Given the description of an element on the screen output the (x, y) to click on. 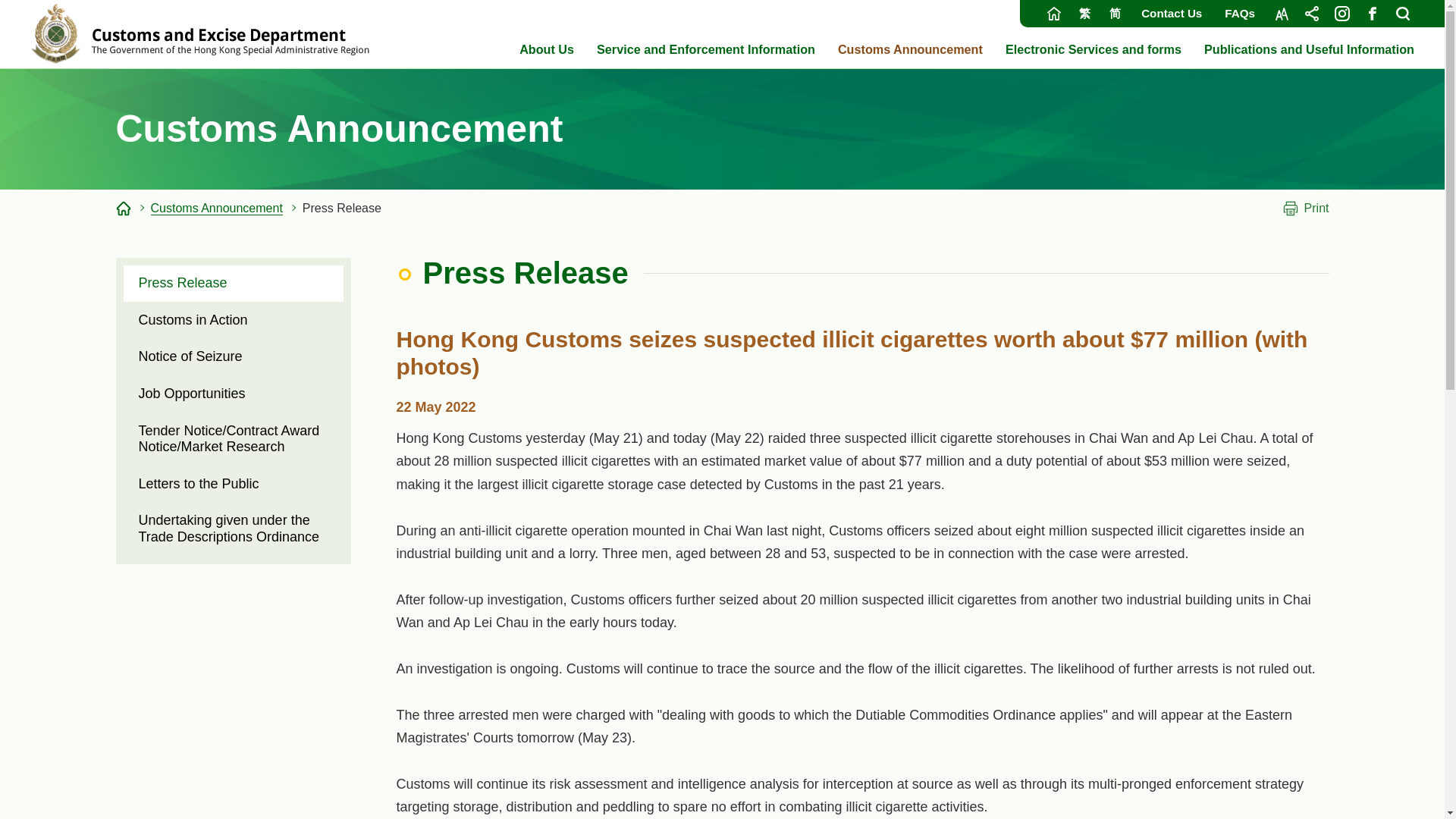
Font Size, This link will open in new window (1280, 13)
